Given the description of an element on the screen output the (x, y) to click on. 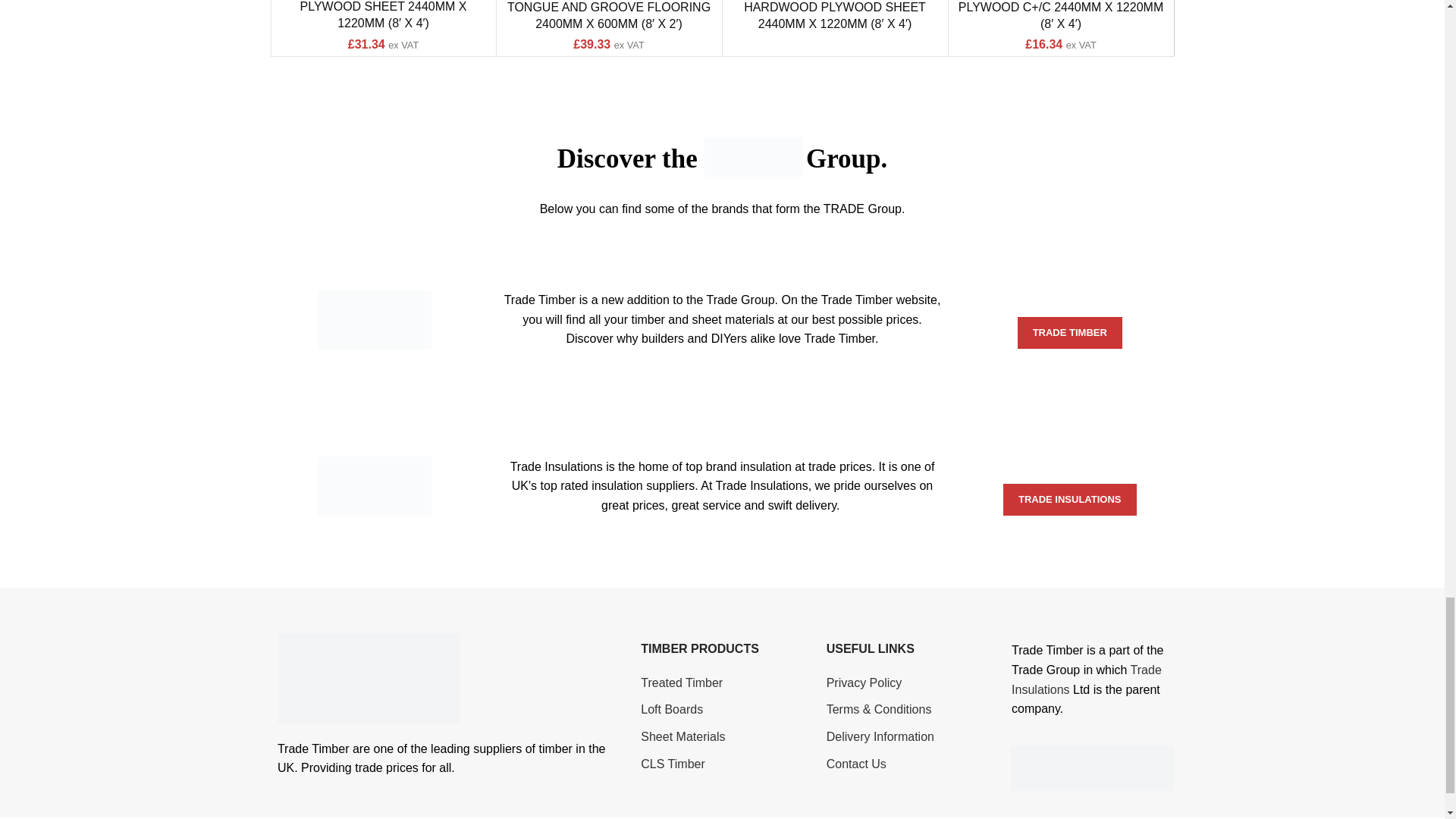
newlogos (369, 678)
trade-timber-small (373, 319)
trade-insulations-smaller (373, 485)
SAFE-TRADE-CHECKOUT-apple-google (1092, 768)
